Given the description of an element on the screen output the (x, y) to click on. 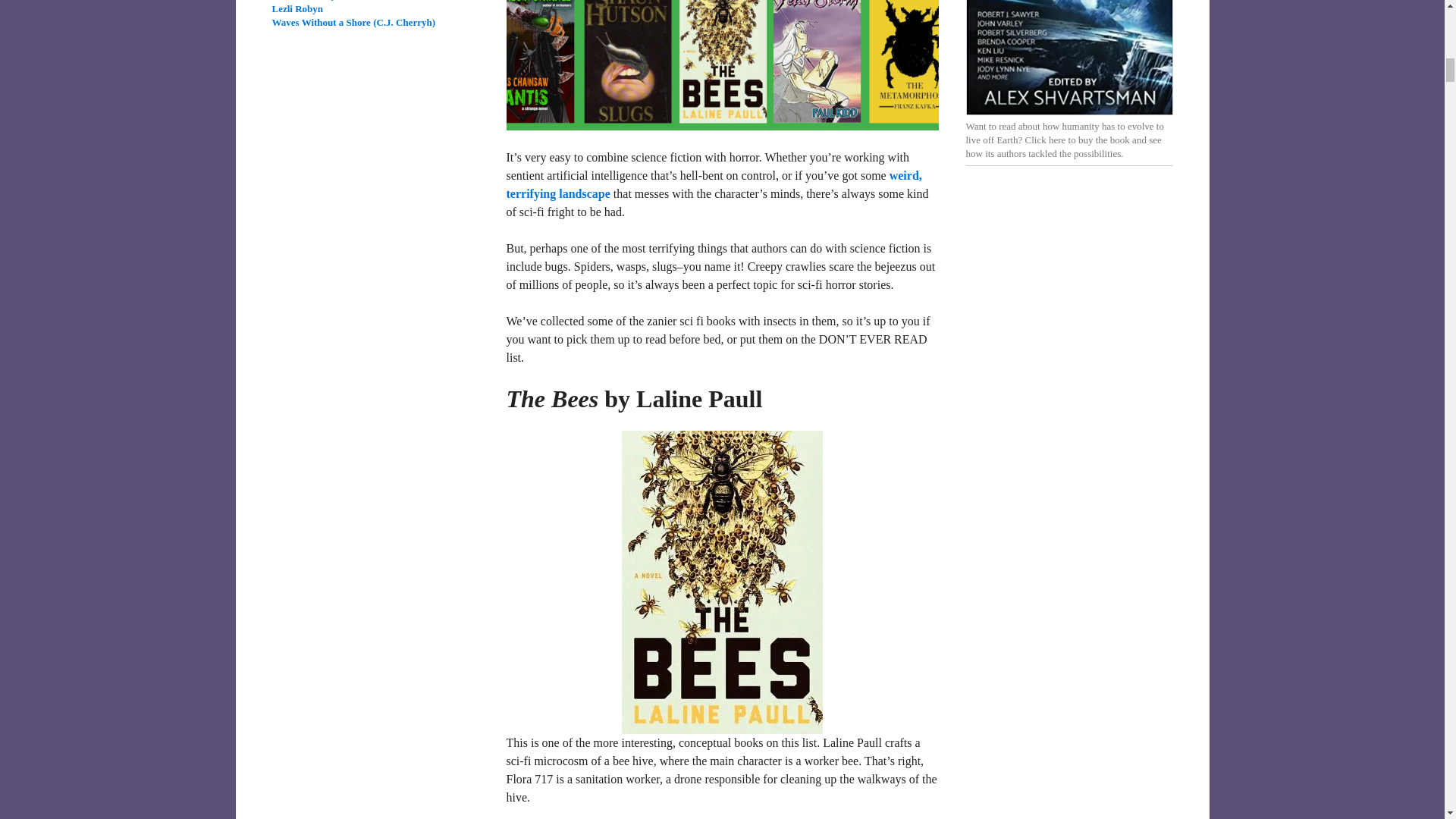
weird, terrifying landscape (713, 183)
HUMANITY 2.0 ANTHOLOGY (1069, 57)
